Given the description of an element on the screen output the (x, y) to click on. 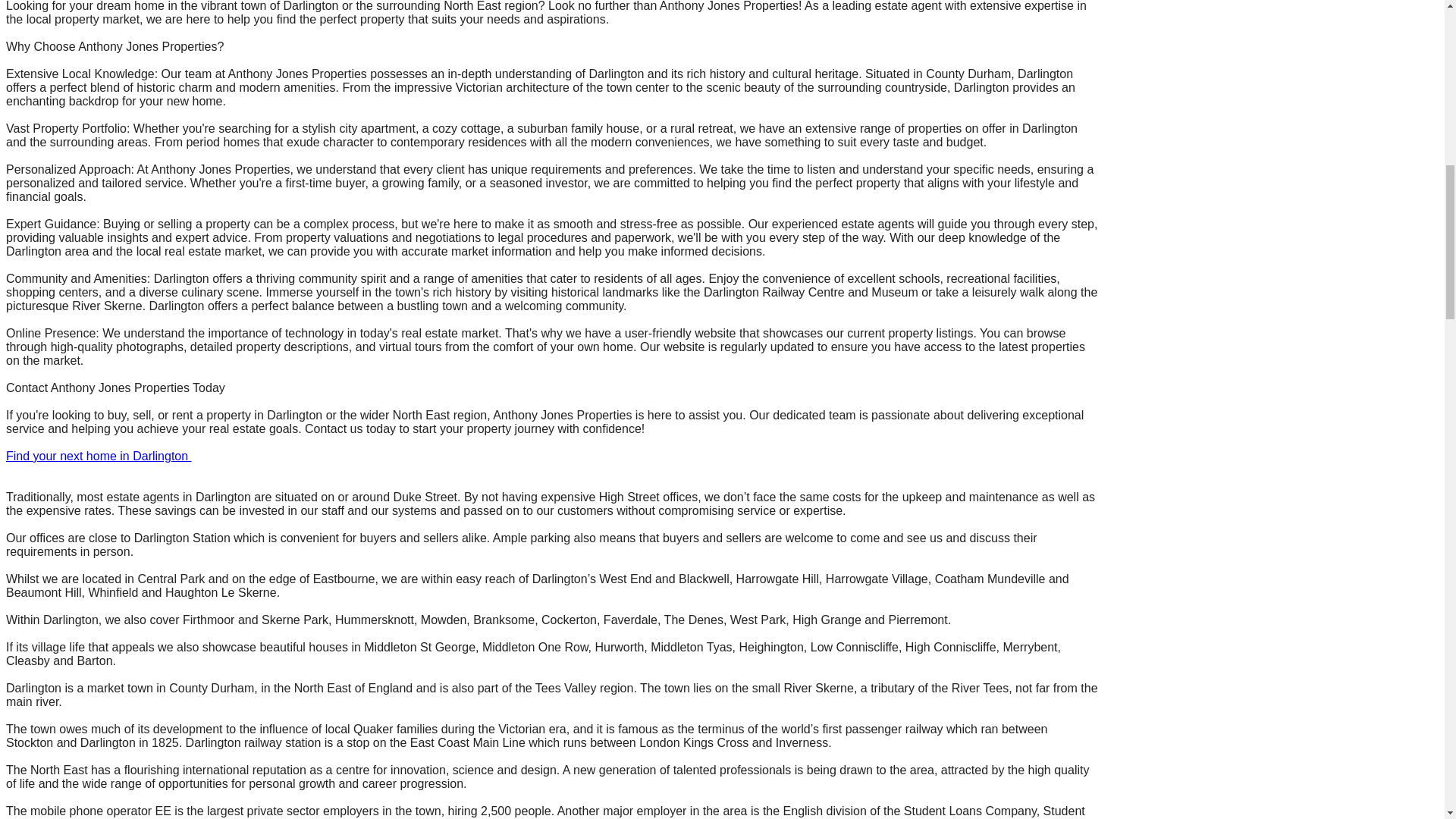
Find your next home in Darlington  (98, 455)
